Given the description of an element on the screen output the (x, y) to click on. 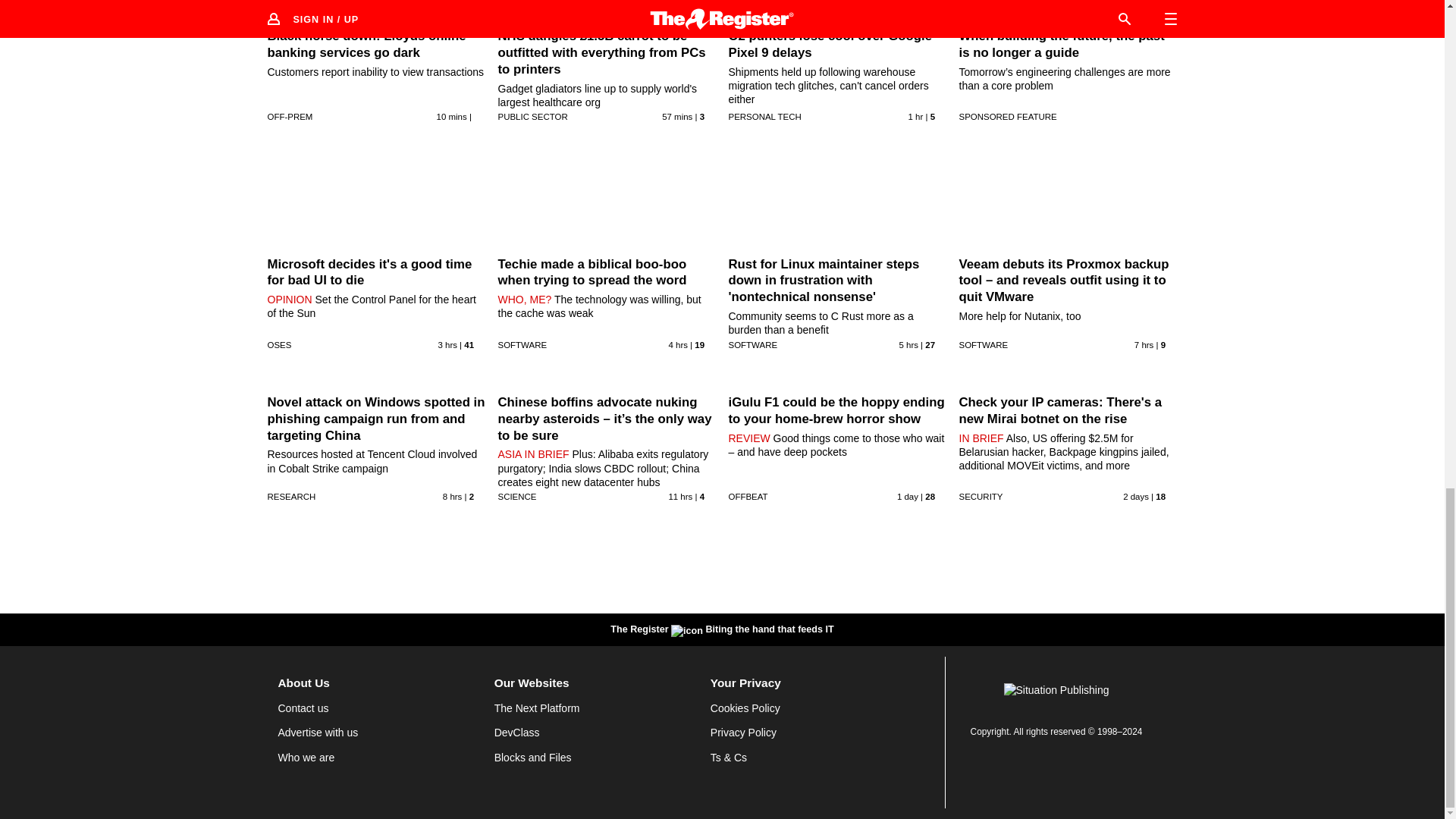
2 Sep 2024 3:6 (452, 496)
1 Sep 2024 8:30 (907, 496)
2 Sep 2024 10:34 (677, 116)
2 Sep 2024 4:29 (1144, 344)
31 Aug 2024 18:22 (1135, 496)
2 Sep 2024 7:32 (677, 344)
2 Sep 2024 11:21 (451, 116)
2 Sep 2024 9:45 (915, 116)
2 Sep 2024 0:31 (680, 496)
2 Sep 2024 6:26 (908, 344)
